Given the description of an element on the screen output the (x, y) to click on. 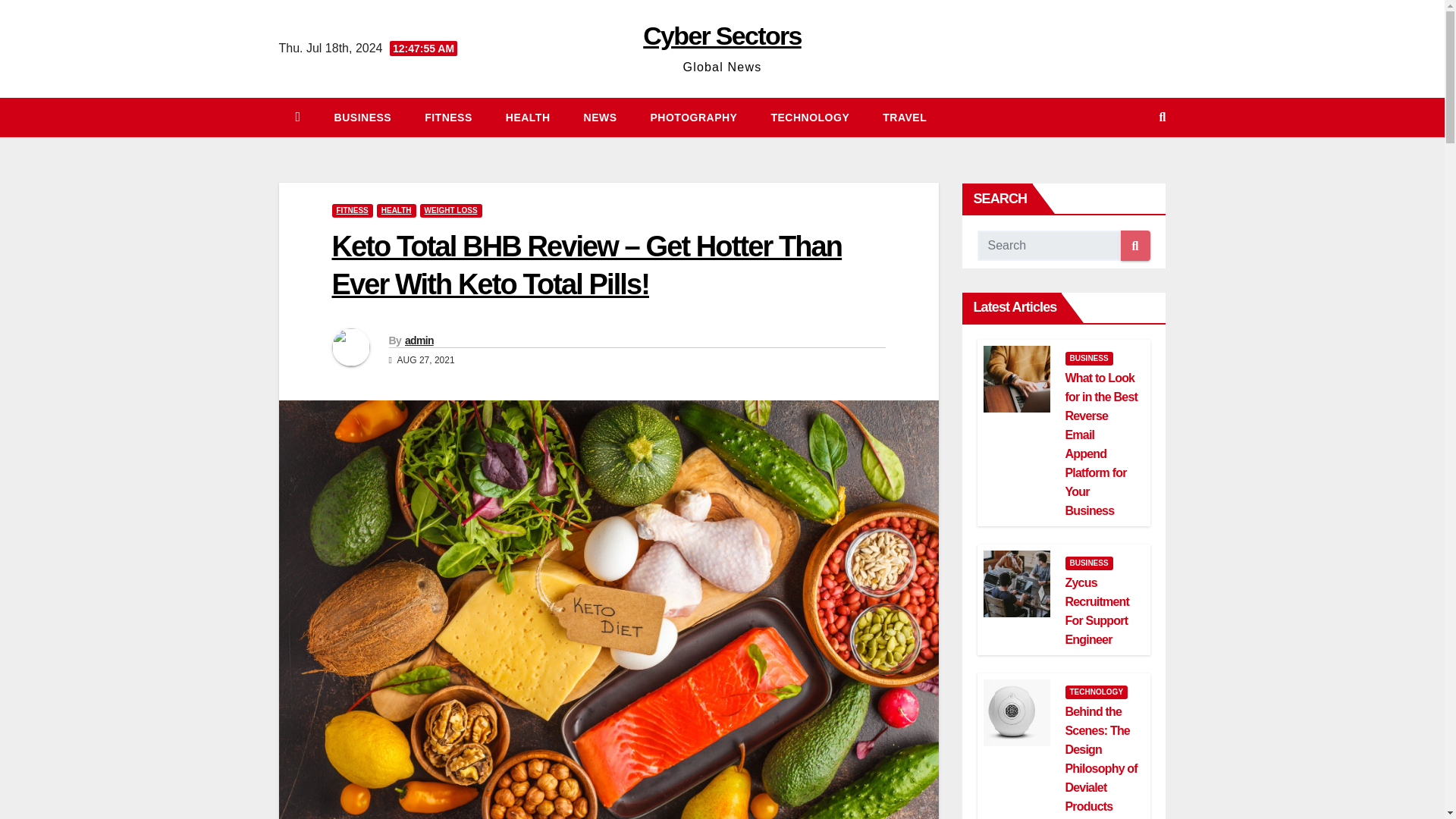
FITNESS (448, 117)
Fitness (448, 117)
Business (363, 117)
Cyber Sectors (721, 35)
admin (418, 340)
FITNESS (351, 210)
HEALTH (528, 117)
HEALTH (396, 210)
PHOTOGRAPHY (693, 117)
photography (693, 117)
NEWS (600, 117)
TRAVEL (904, 117)
Travel (904, 117)
Technology (810, 117)
WEIGHT LOSS (450, 210)
